Given the description of an element on the screen output the (x, y) to click on. 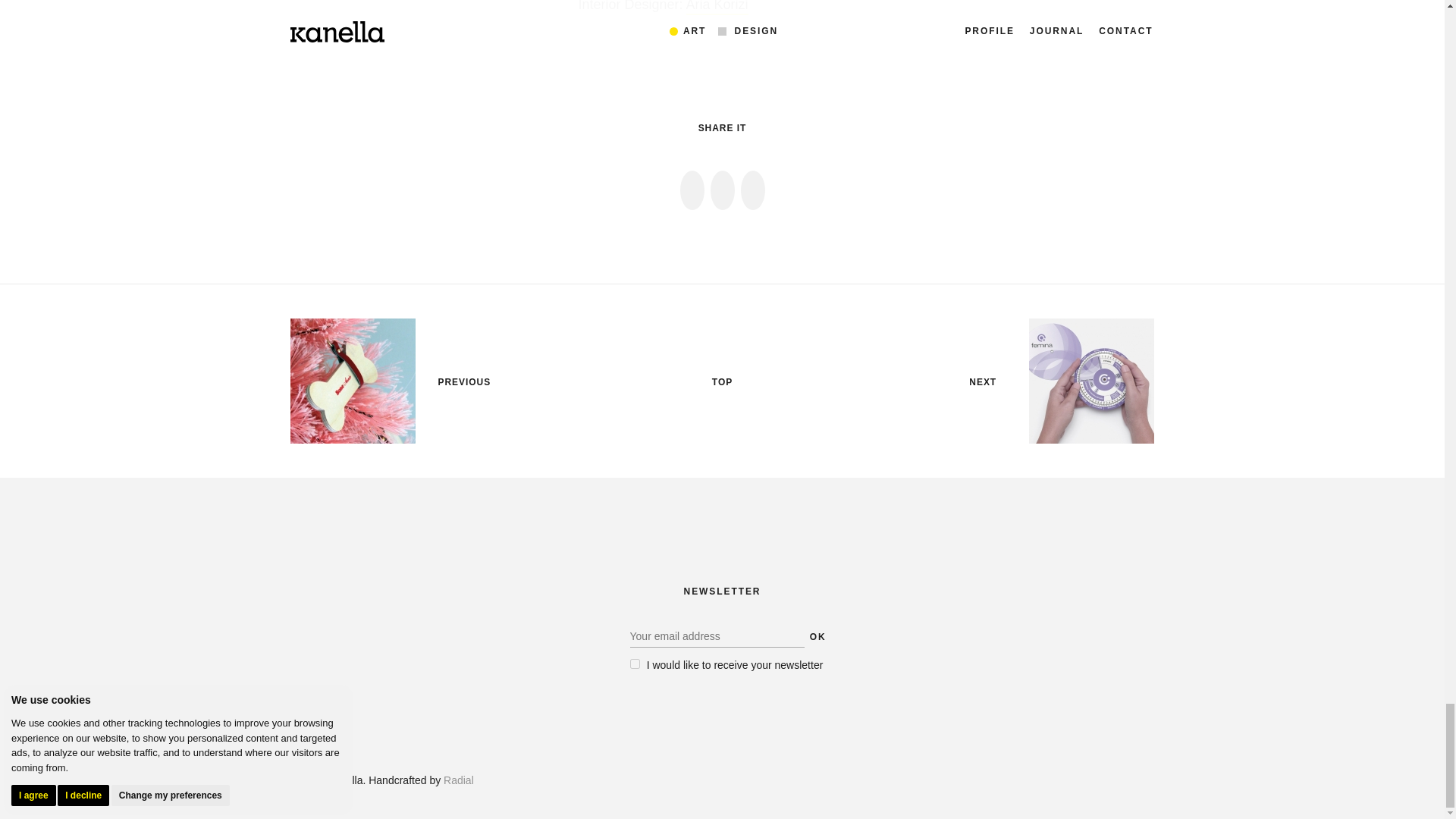
PREVIOUS (464, 382)
on (633, 664)
Aria Korizi (716, 7)
OK (818, 636)
Radial (459, 779)
NEXT (982, 382)
OK (818, 636)
